Given the description of an element on the screen output the (x, y) to click on. 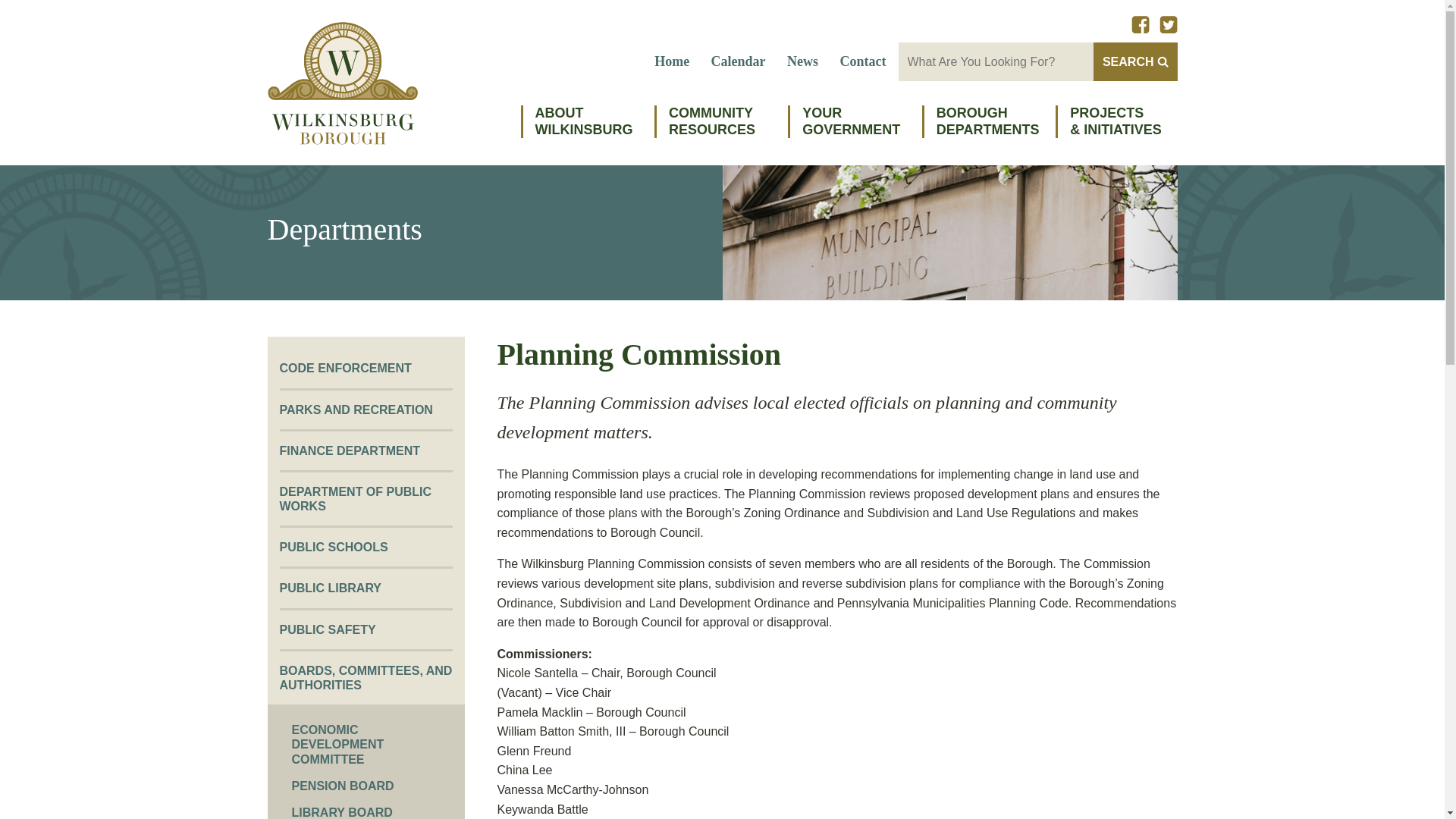
Search for: (995, 61)
